Given the description of an element on the screen output the (x, y) to click on. 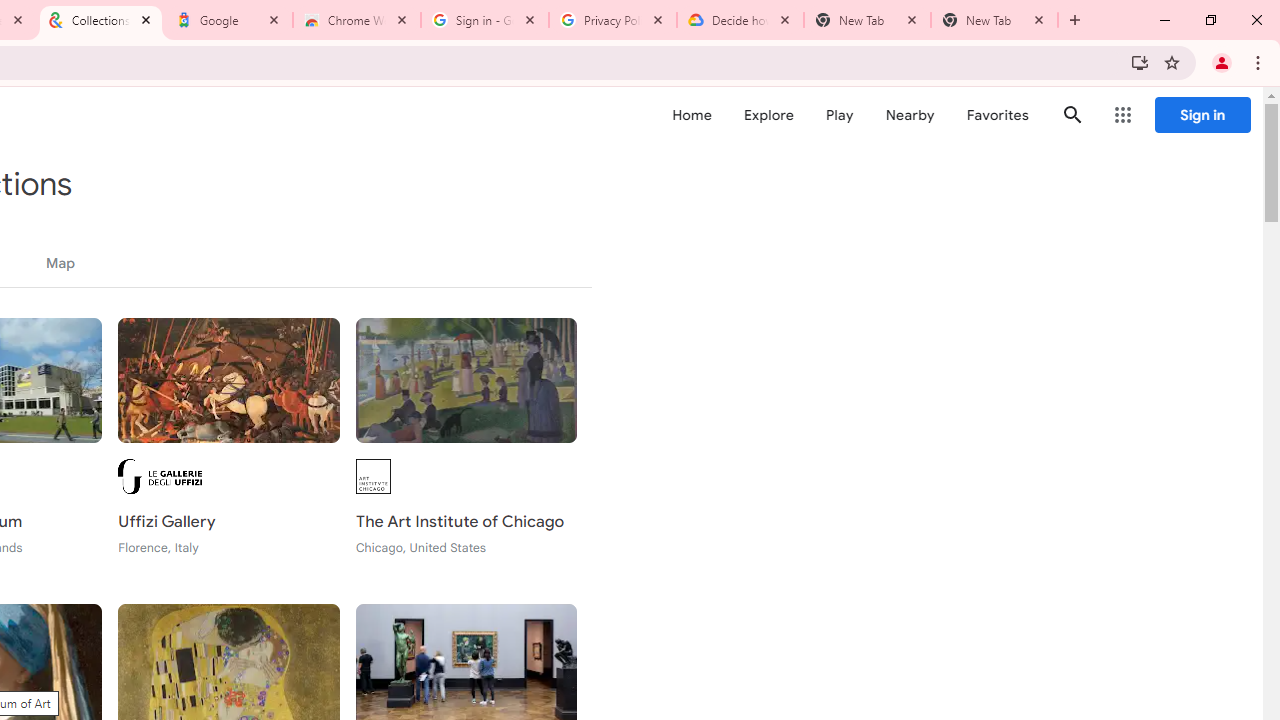
Nearby (910, 115)
The Art Institute of Chicago Chicago, United States (466, 449)
Map (60, 263)
Home (691, 115)
Favorites (996, 115)
Play (840, 115)
Uffizi Gallery Florence, Italy (228, 449)
